Given the description of an element on the screen output the (x, y) to click on. 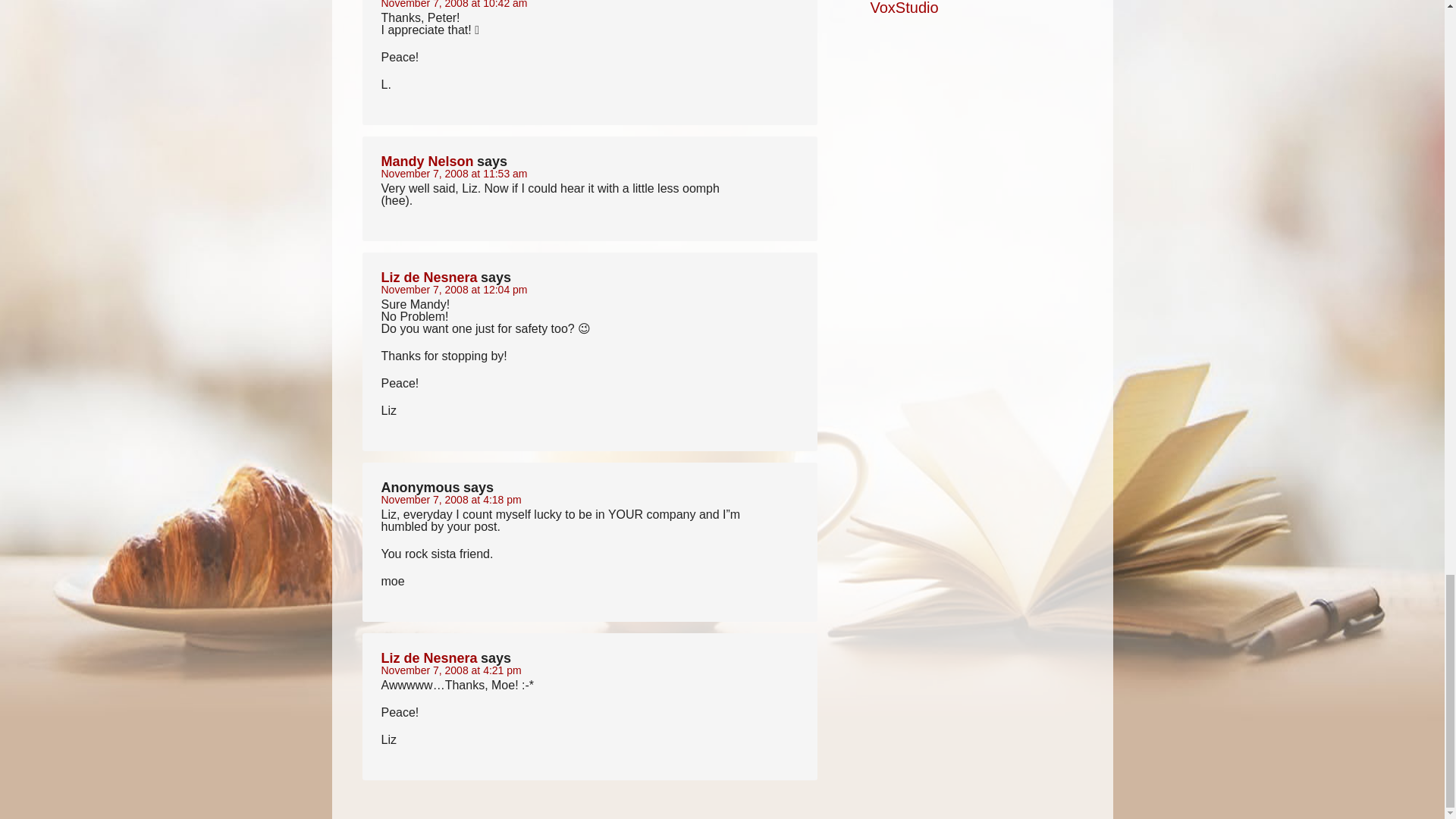
Liz de Nesnera (428, 277)
Mandy Nelson (426, 160)
November 7, 2008 at 11:53 am (453, 173)
November 7, 2008 at 10:42 am (453, 4)
